Given the description of an element on the screen output the (x, y) to click on. 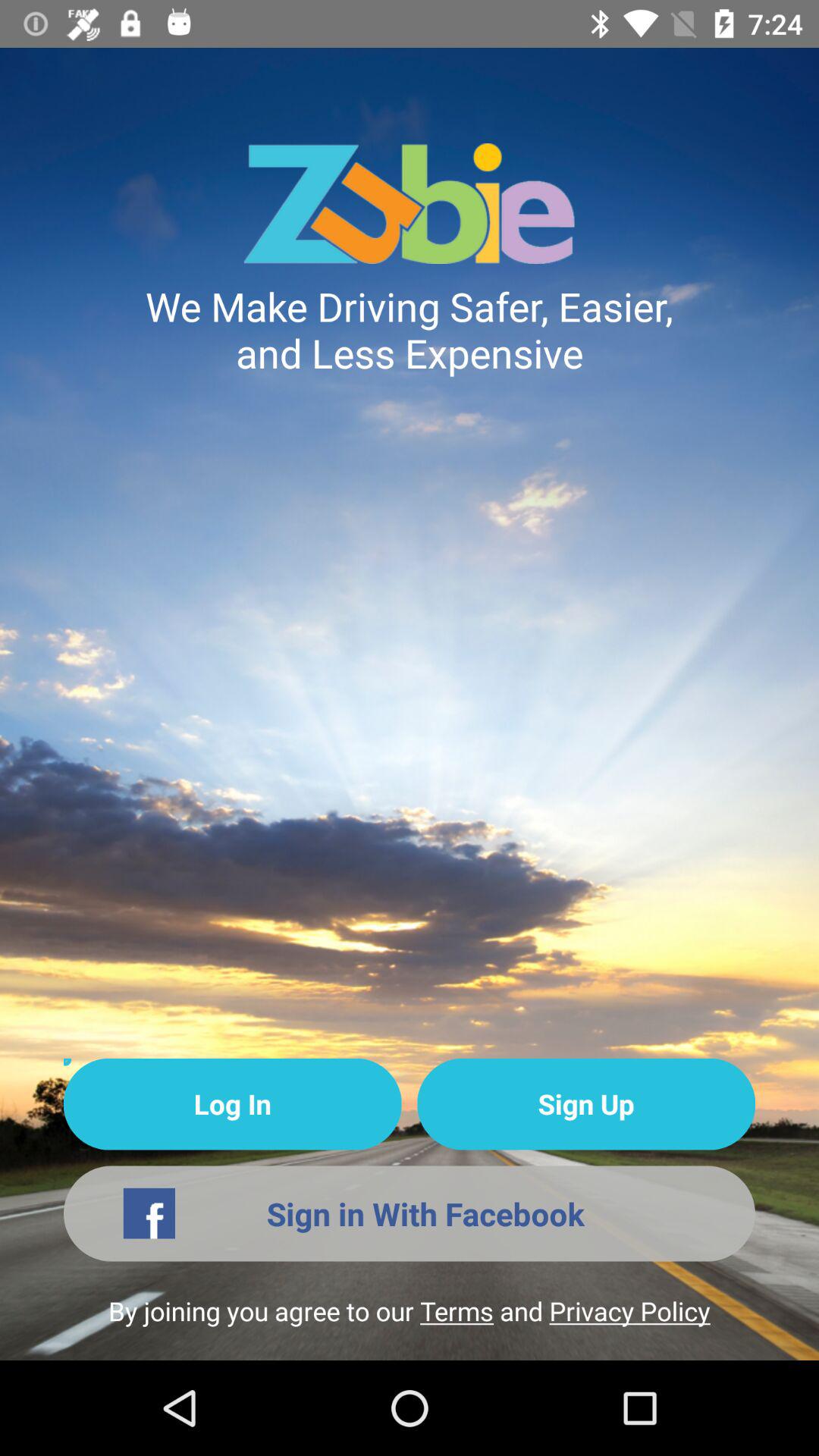
tap icon below the we make driving icon (586, 1104)
